Given the description of an element on the screen output the (x, y) to click on. 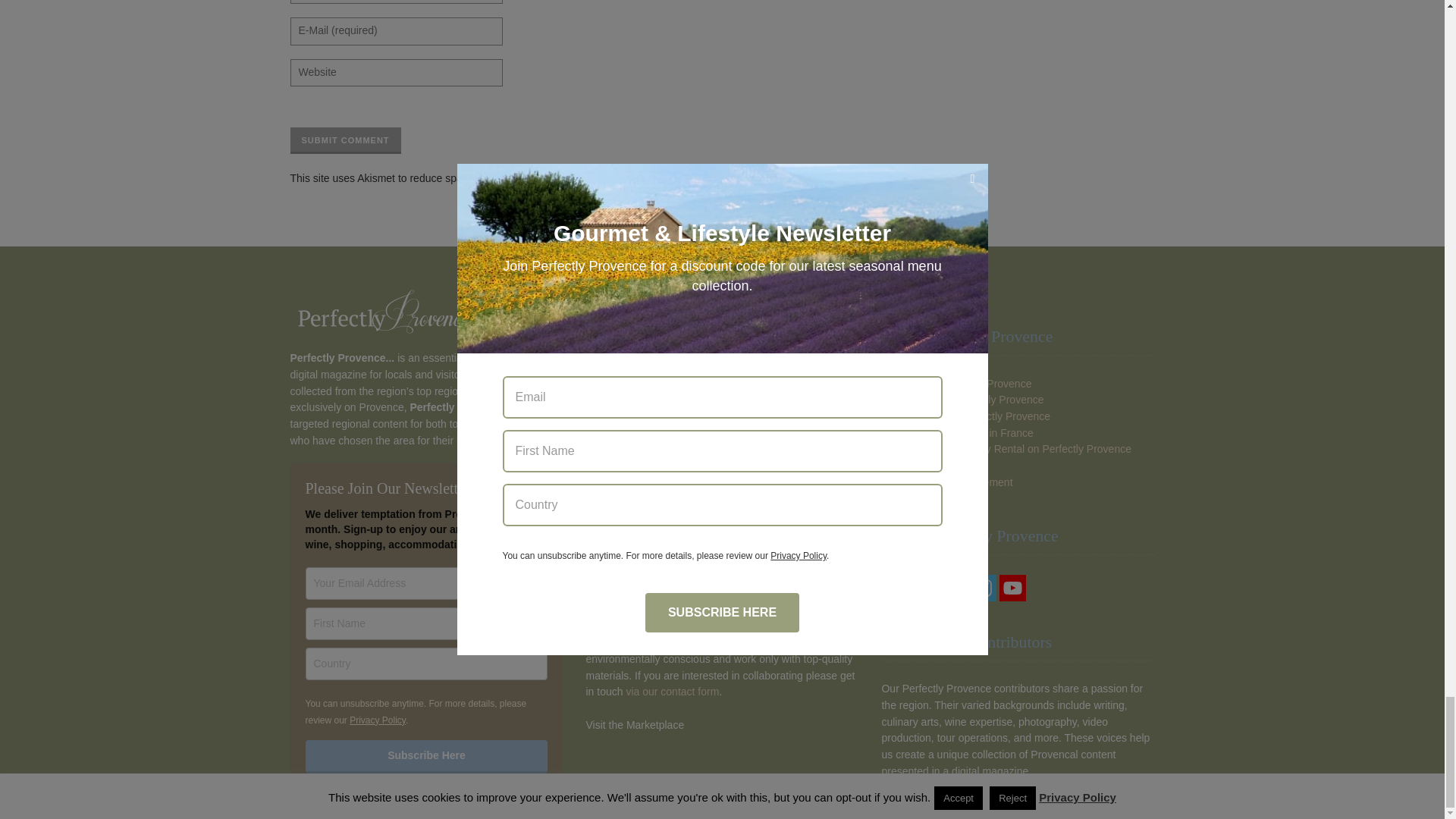
Submit comment (344, 140)
